Given the description of an element on the screen output the (x, y) to click on. 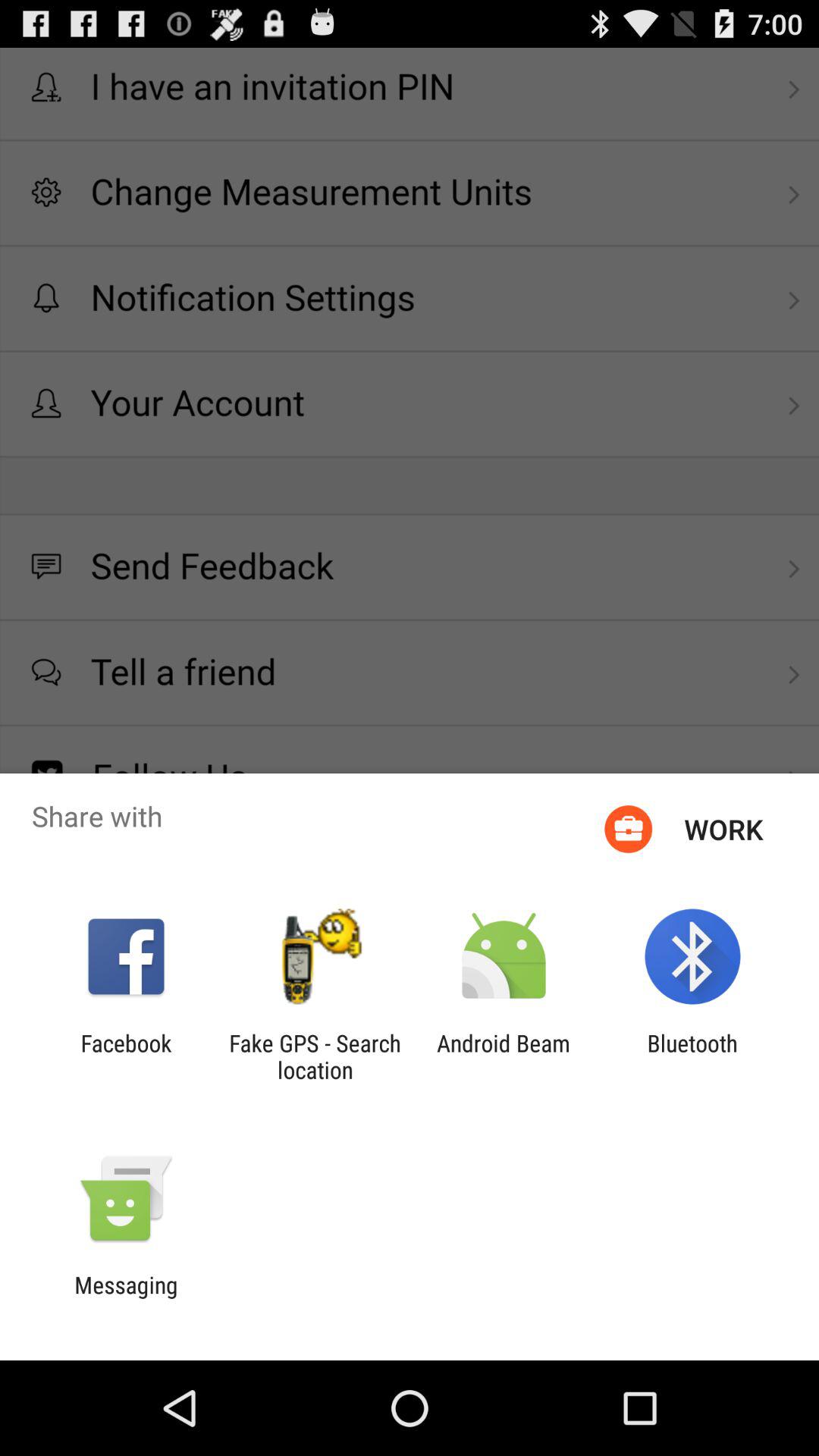
select item next to the android beam app (692, 1056)
